Given the description of an element on the screen output the (x, y) to click on. 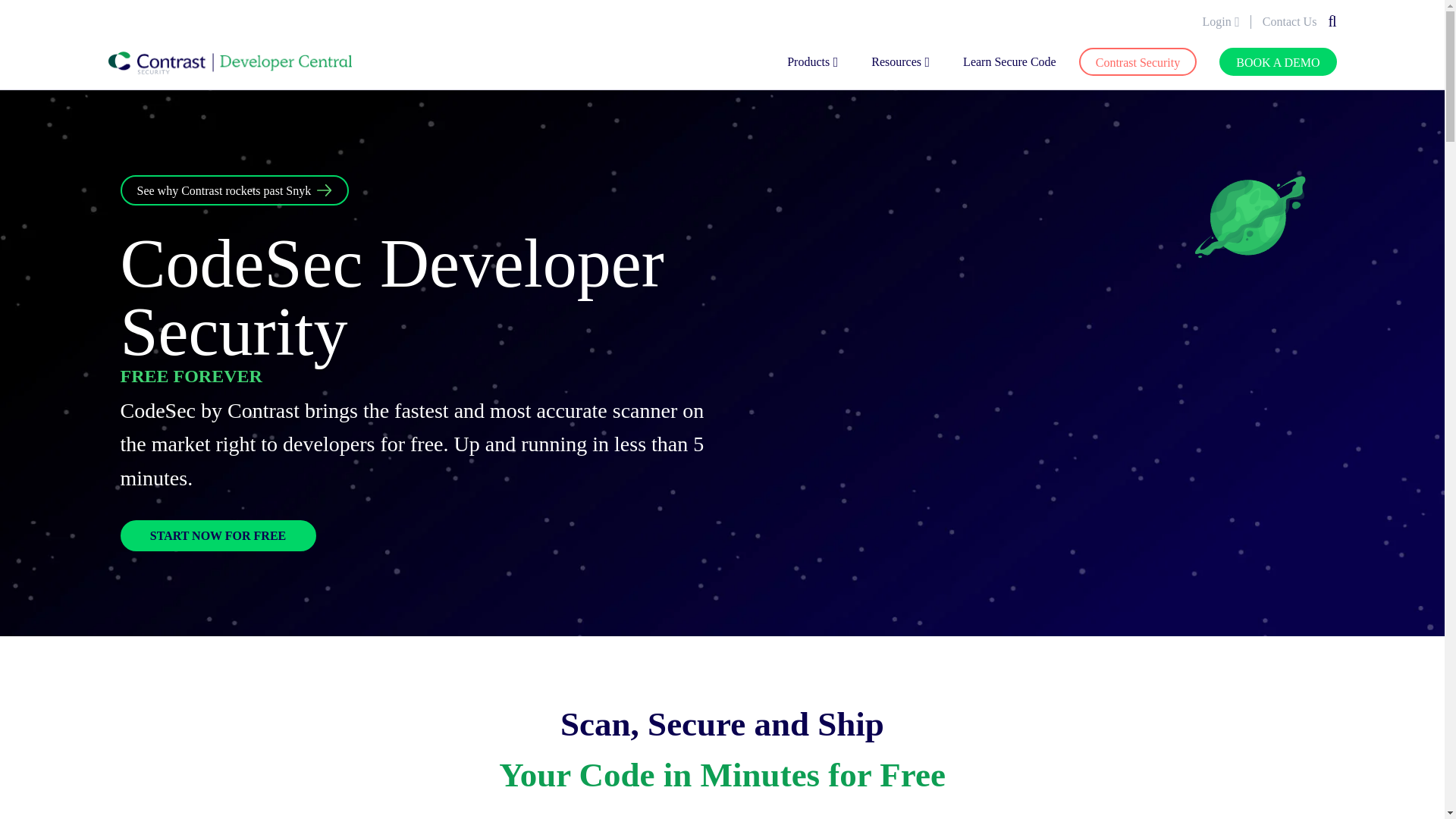
Contact Us (1289, 22)
Login (1216, 22)
Book a Demo (1278, 61)
Learn Secure Code (1009, 62)
Contrast Security (1137, 61)
Resources (895, 62)
BOOK A DEMO (1278, 61)
Contrast Security (1137, 61)
See why Contrast rockets past Snyk (234, 190)
START NOW FOR FREE (217, 535)
